Given the description of an element on the screen output the (x, y) to click on. 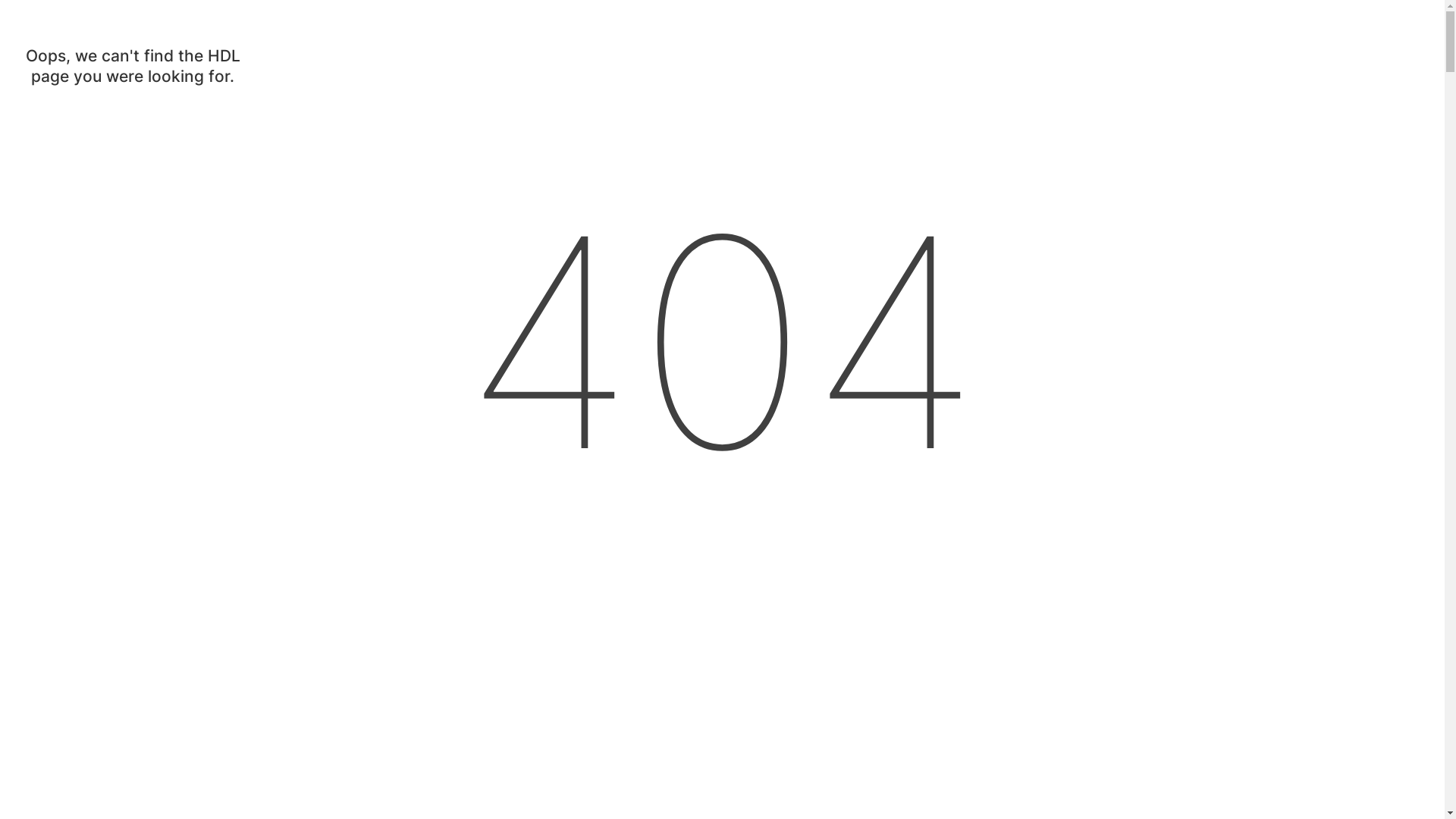
Go to homepage Element type: text (59, 115)
